Given the description of an element on the screen output the (x, y) to click on. 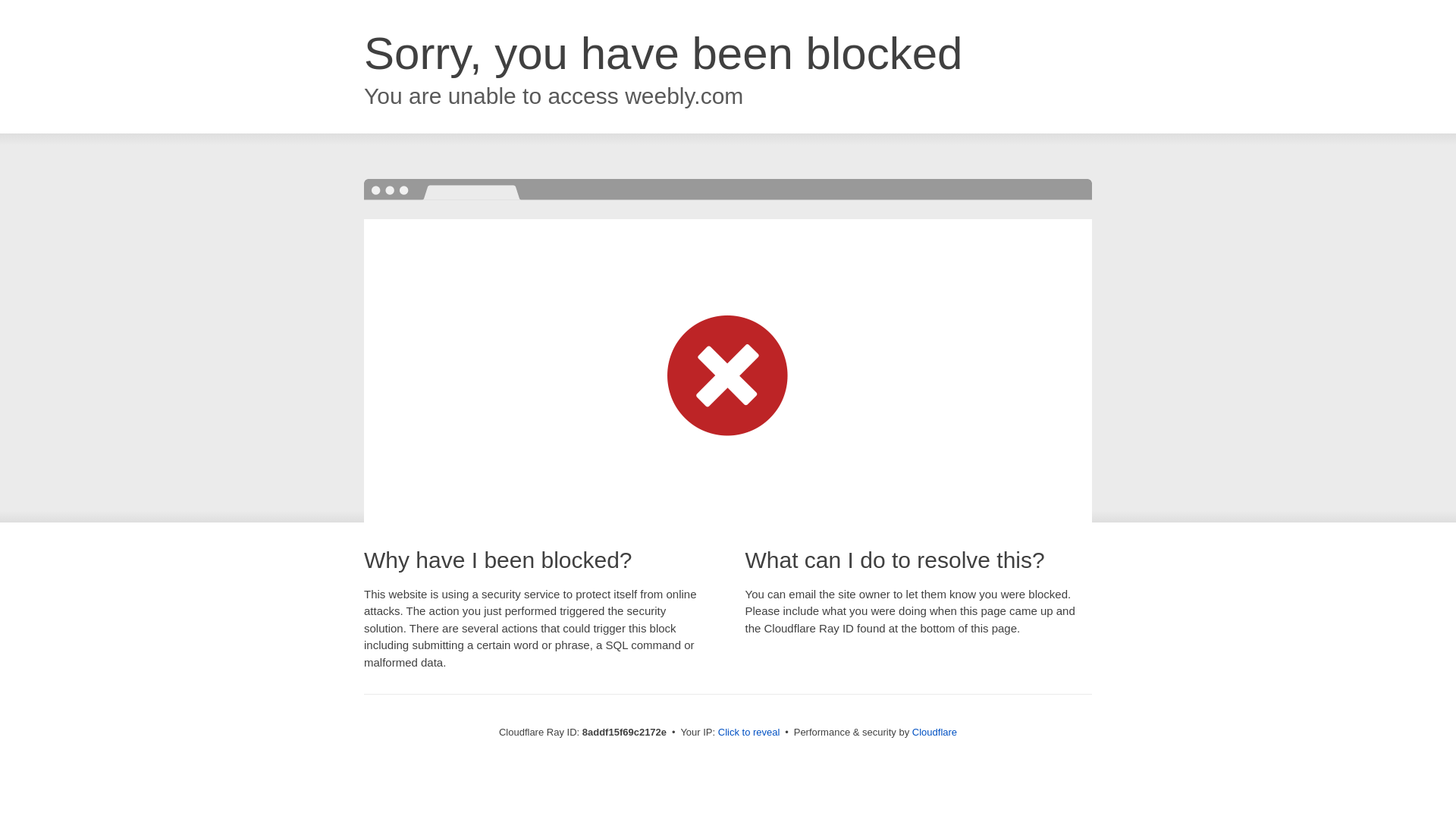
Cloudflare (934, 731)
Click to reveal (748, 732)
